Given the description of an element on the screen output the (x, y) to click on. 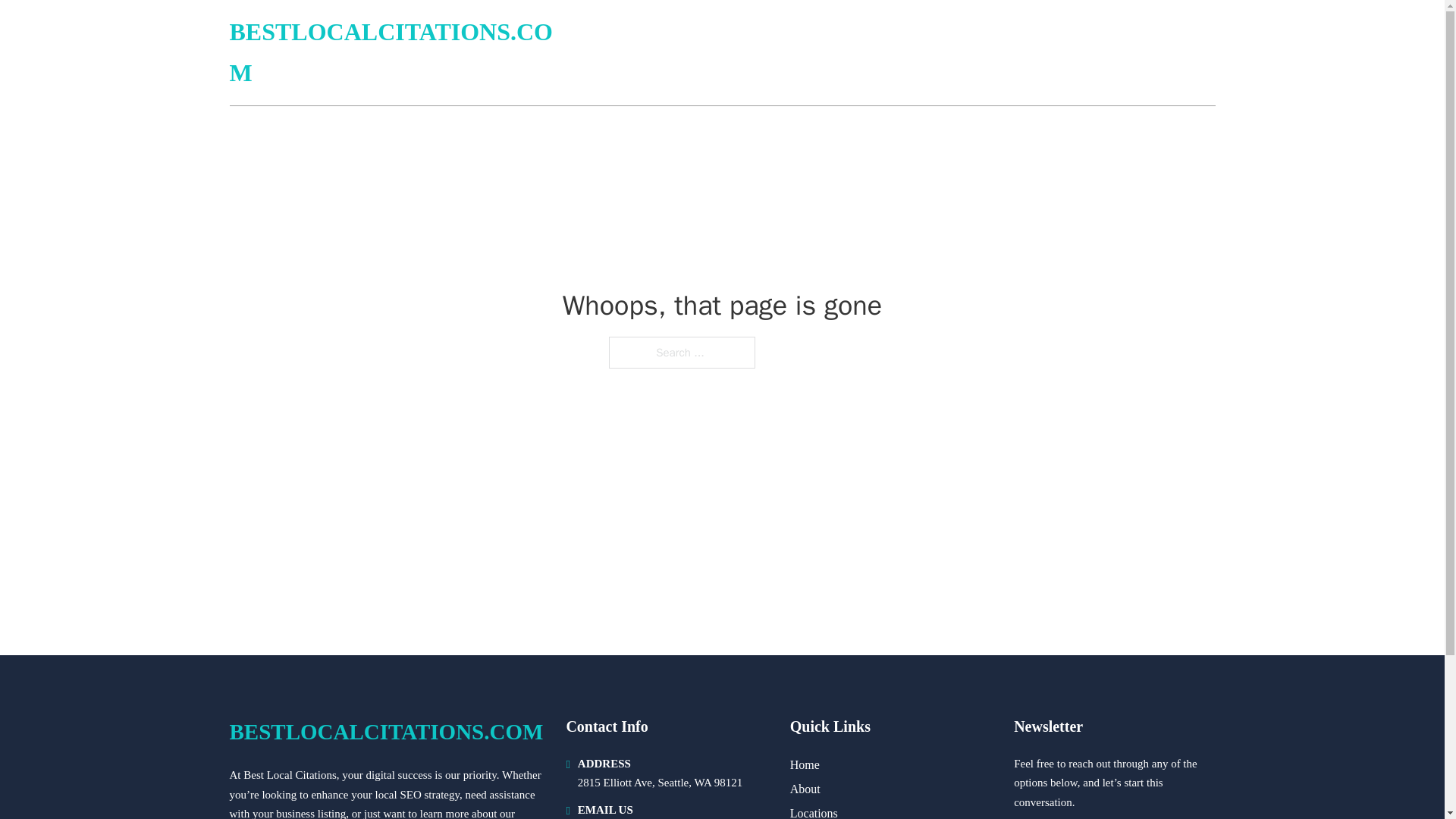
BESTLOCALCITATIONS.COM (400, 52)
Home (804, 764)
BESTLOCALCITATIONS.COM (385, 732)
HOME (1032, 53)
LOCATIONS (1105, 53)
Locations (814, 811)
About (805, 788)
